Given the description of an element on the screen output the (x, y) to click on. 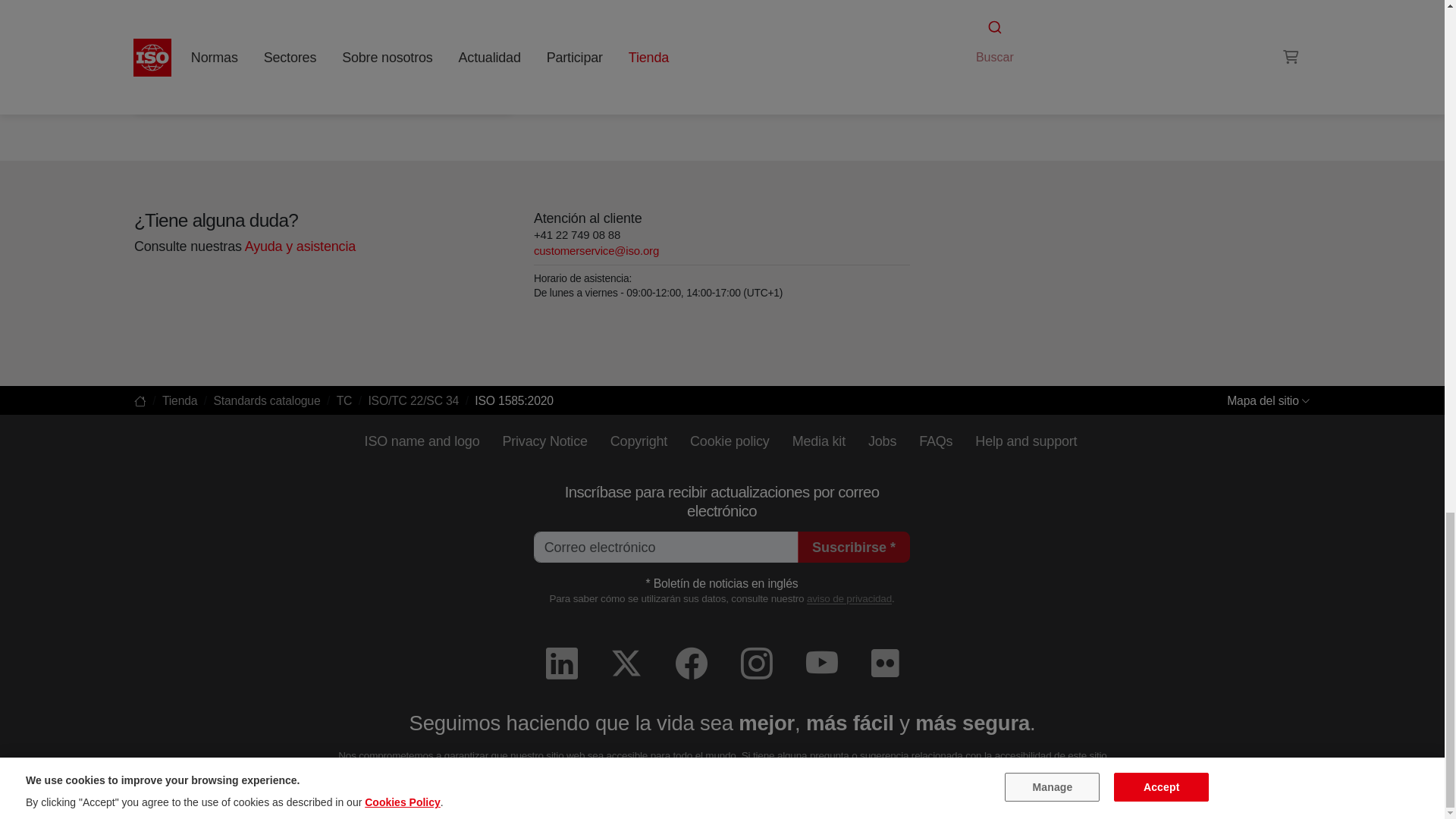
Industry, Innovation and Infrastructure (323, 87)
